Given the description of an element on the screen output the (x, y) to click on. 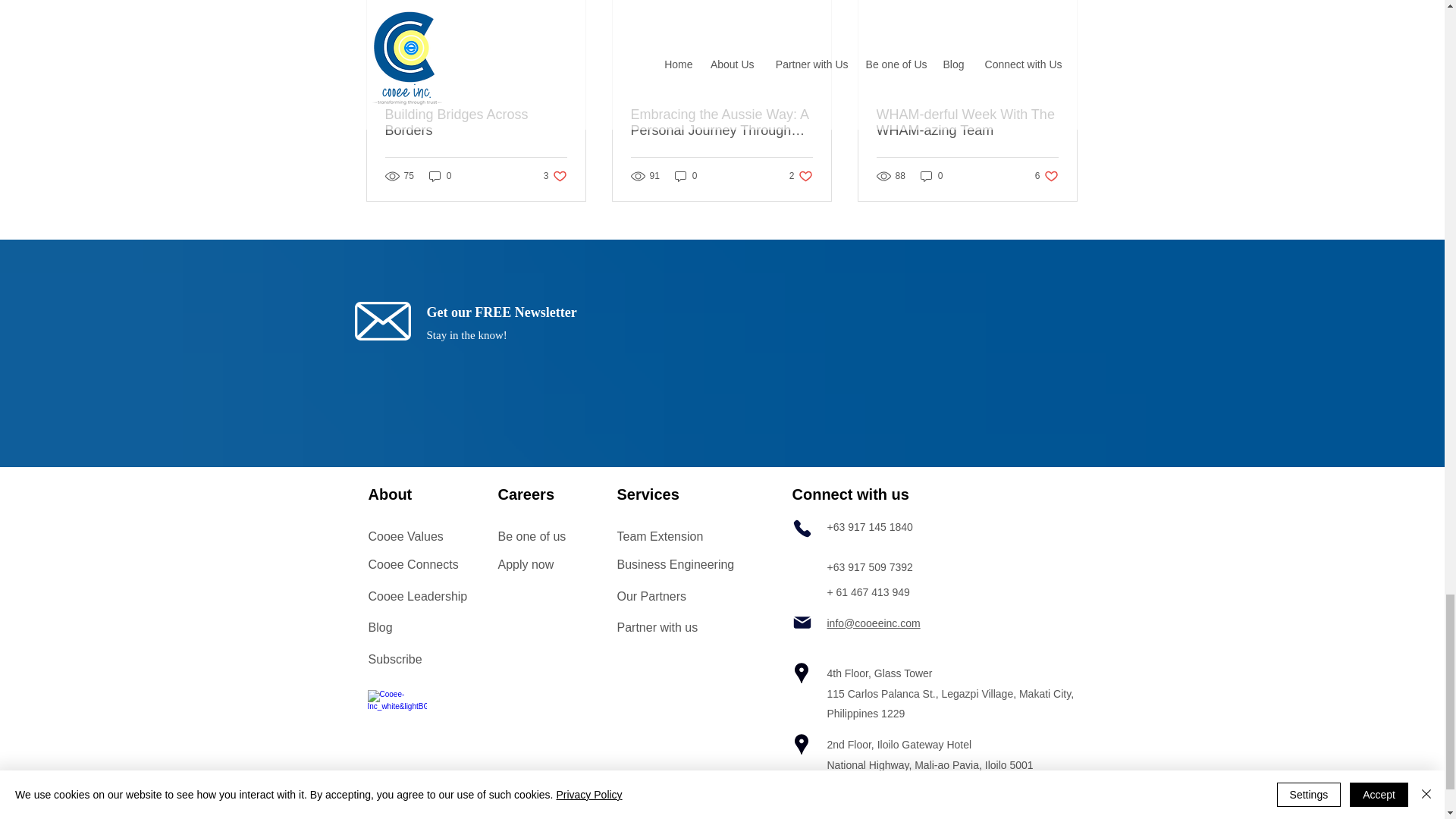
Cooee Values (406, 535)
0 (555, 175)
0 (440, 175)
Apply now (1046, 175)
Building Bridges Across Borders (931, 175)
Cooee Connects (525, 563)
Be one of us (476, 122)
0 (413, 563)
WHAM-derful Week With The WHAM-azing Team (800, 175)
